Given the description of an element on the screen output the (x, y) to click on. 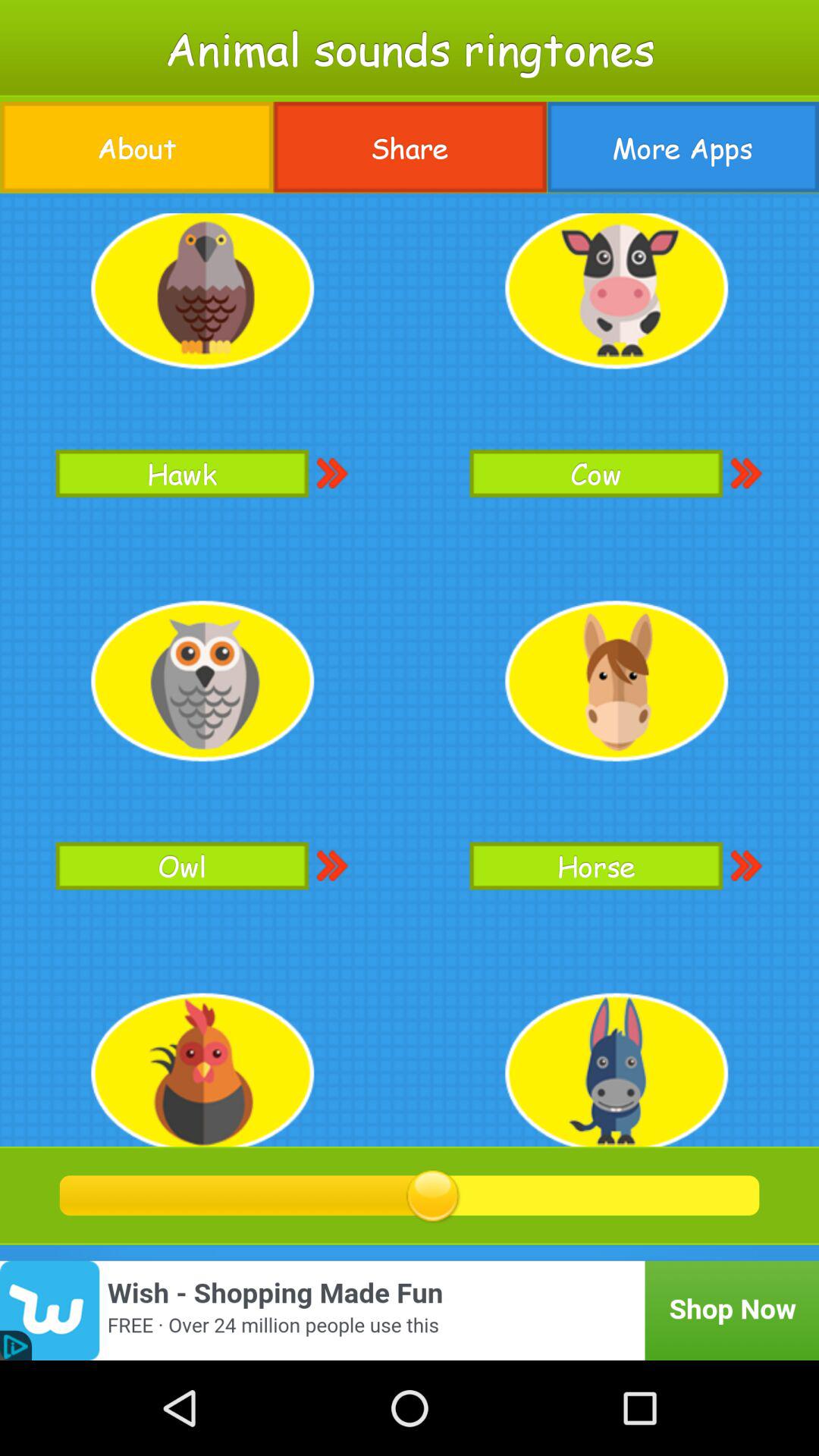
scroll to hawk (181, 473)
